Given the description of an element on the screen output the (x, y) to click on. 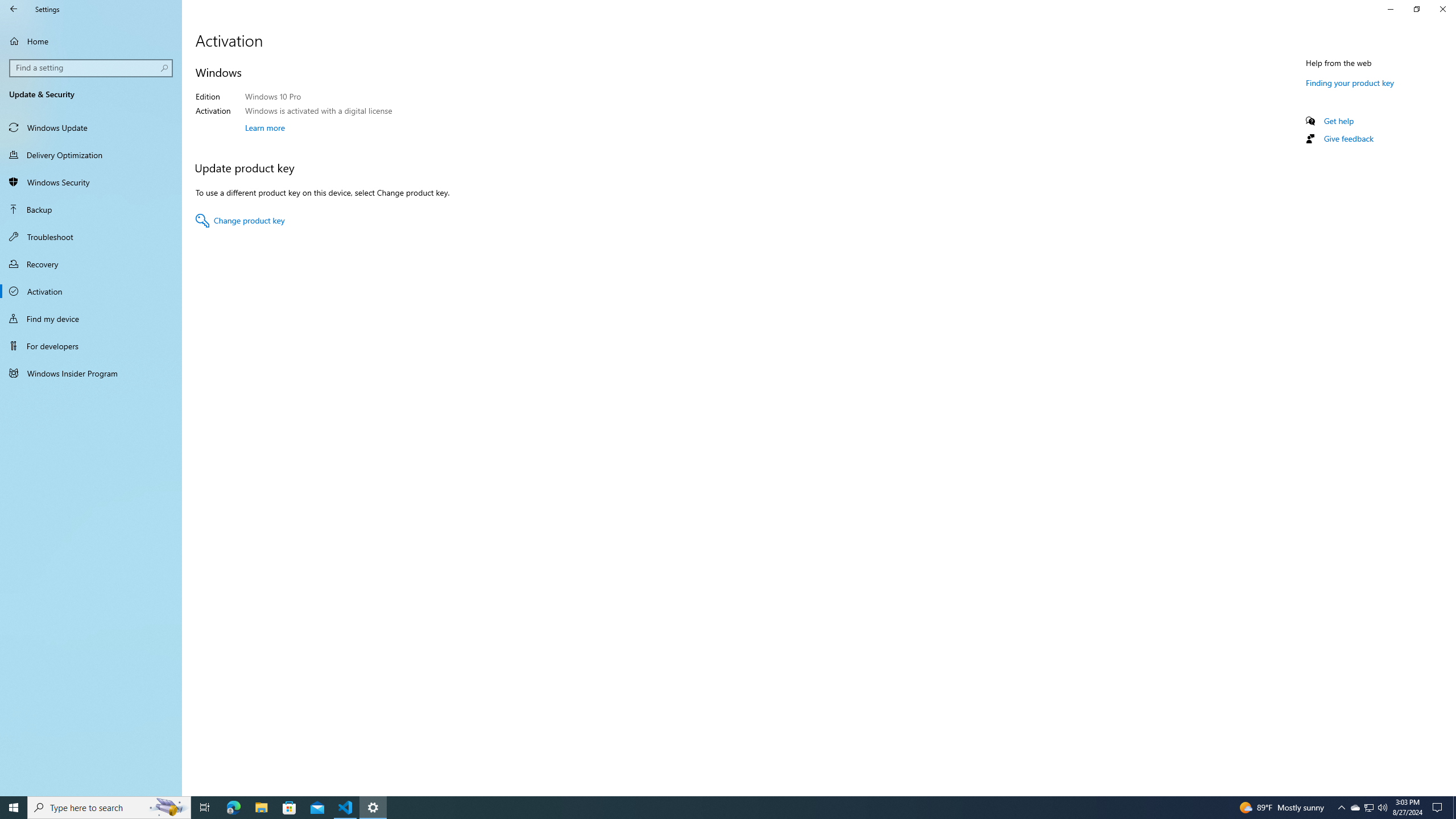
Restore Settings (1416, 9)
Q2790: 100% (1382, 807)
Give feedback (1348, 138)
Windows Security (91, 181)
Microsoft Edge (233, 807)
Backup (1355, 807)
Back (91, 208)
Find my device (13, 9)
Change product key (91, 318)
Home (240, 220)
Close Settings (91, 40)
Show desktop (1442, 9)
